Given the description of an element on the screen output the (x, y) to click on. 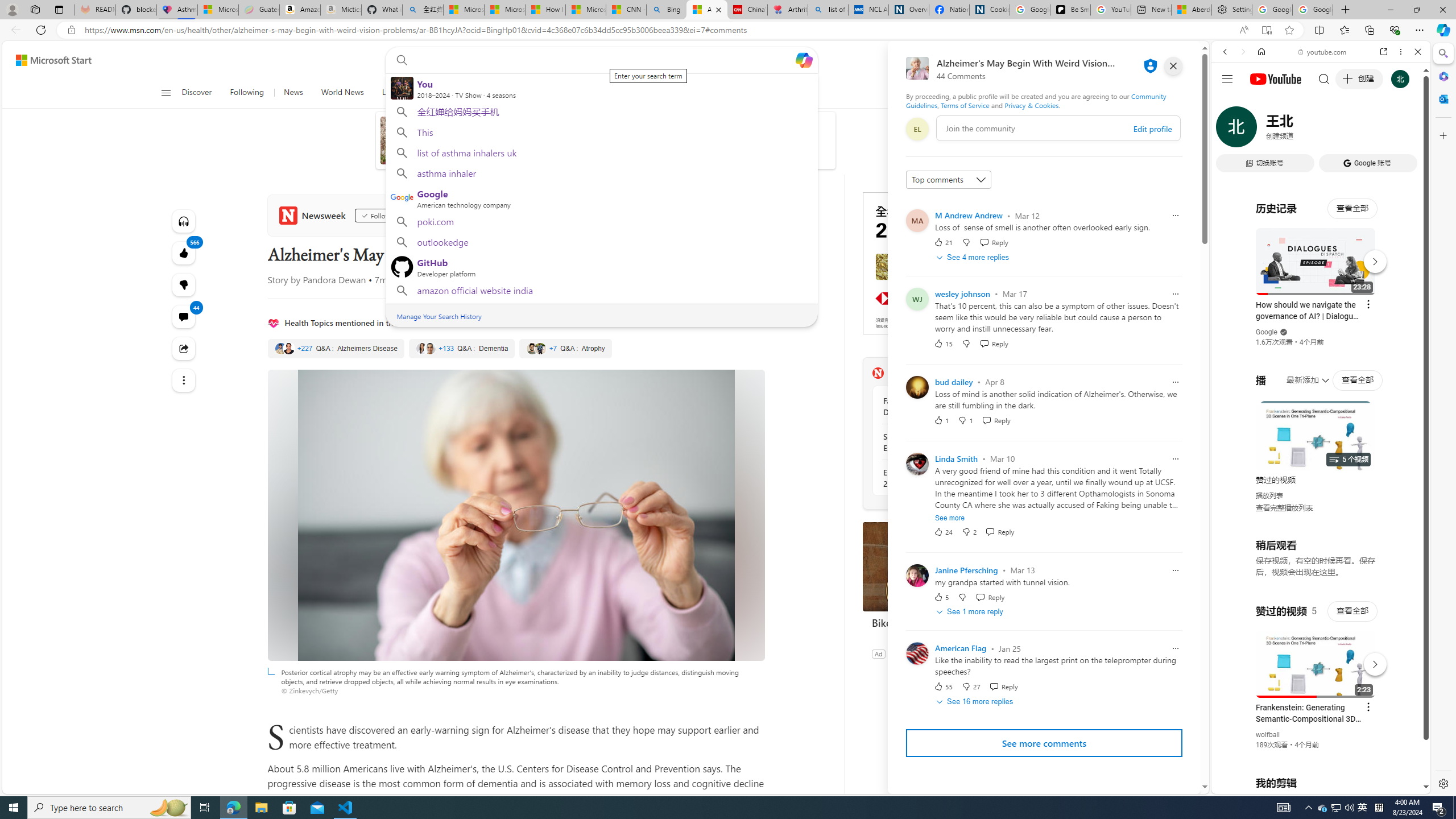
GitHub GitHub (601, 266)
Technology (483, 92)
Google Google (601, 197)
poki.com (601, 221)
AutomationID: canvas (947, 263)
Visit Newsweek website (1018, 372)
Sky Blue Bikes (909, 653)
Crime (531, 92)
